Given the description of an element on the screen output the (x, y) to click on. 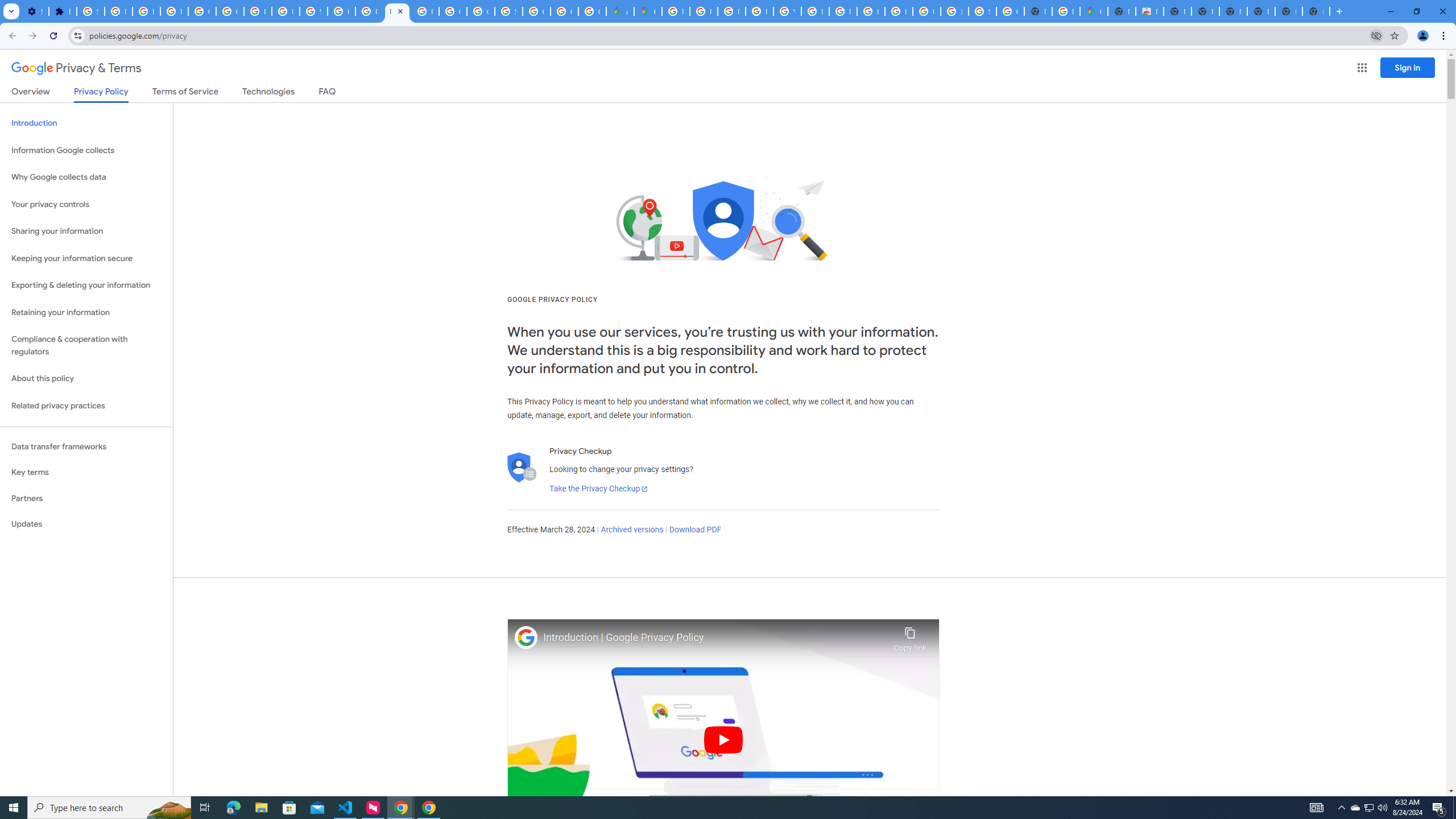
YouTube (313, 11)
Privacy & Terms (76, 68)
Policy Accountability and Transparency - Transparency Center (675, 11)
Explore new street-level details - Google Maps Help (1065, 11)
Exporting & deleting your information (86, 284)
Technologies (268, 93)
Data transfer frameworks (86, 446)
Create your Google Account (592, 11)
